Given the description of an element on the screen output the (x, y) to click on. 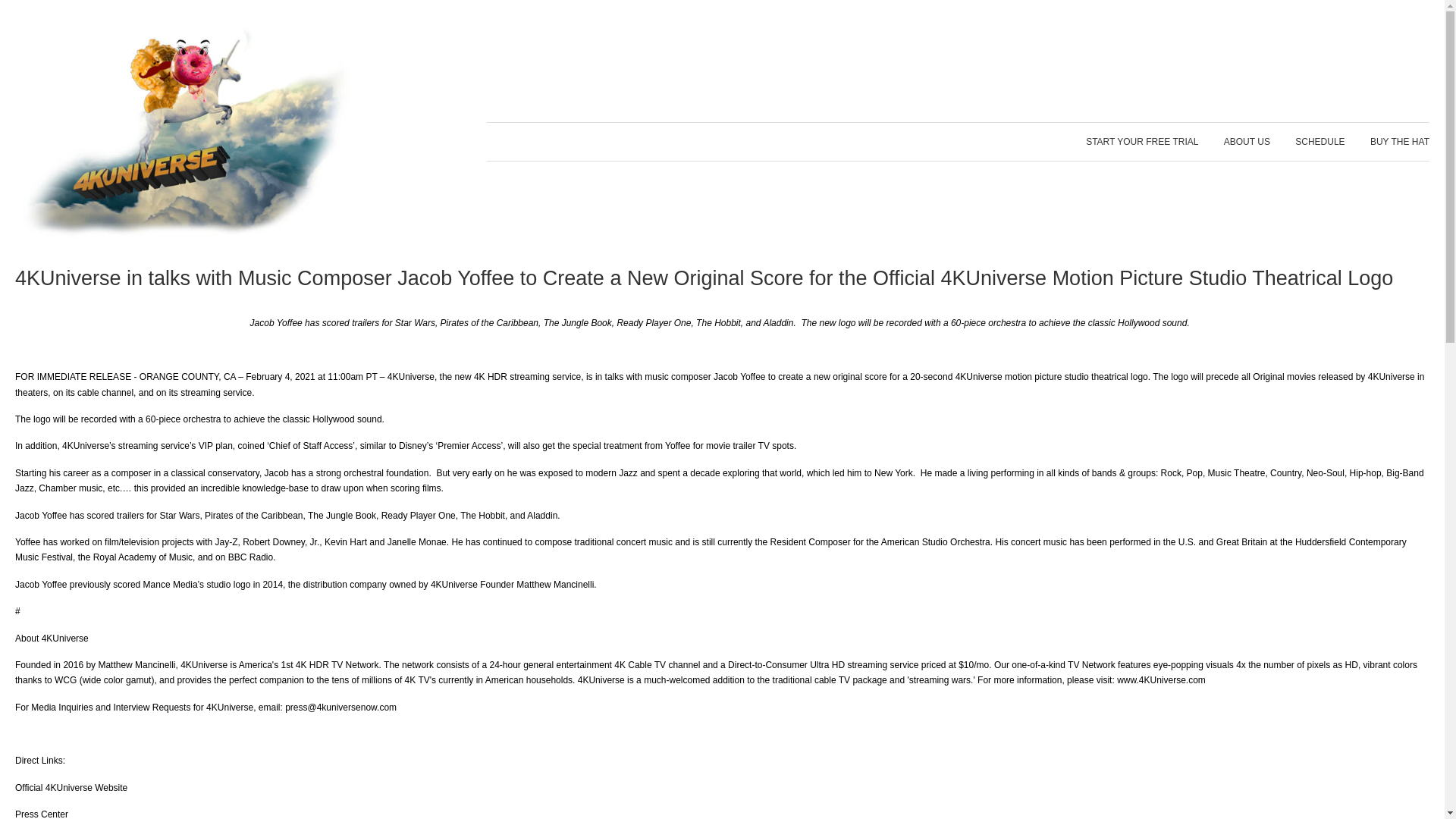
www.4KUniverse.com (1160, 679)
SCHEDULE (1319, 141)
Official 4KUniverse Website (71, 787)
ABOUT US (1246, 141)
Press Center (41, 814)
START YOUR FREE TRIAL (1147, 141)
BUY THE HAT (1393, 141)
